Given the description of an element on the screen output the (x, y) to click on. 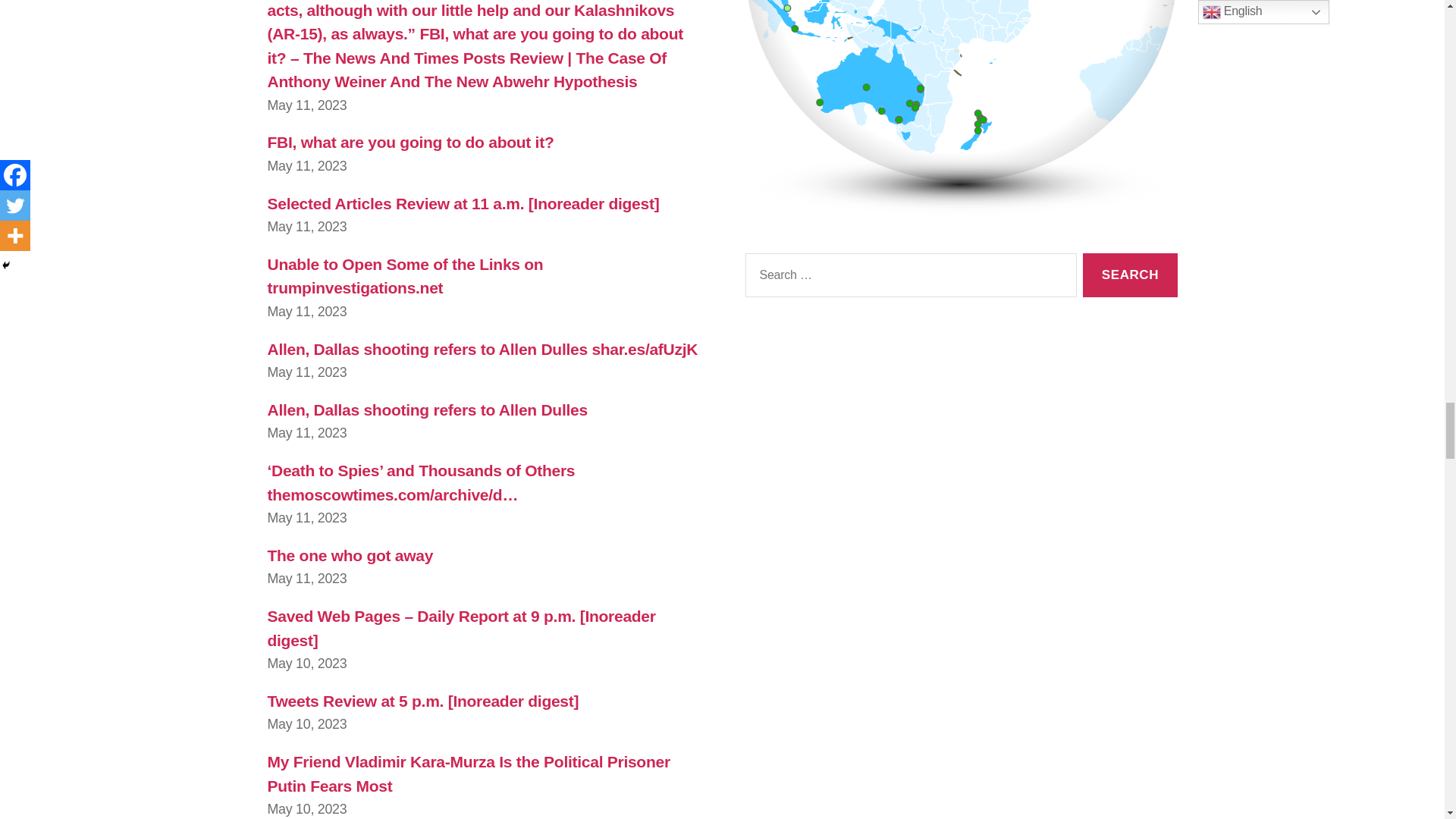
Search (1129, 275)
Search (1129, 275)
